Given the description of an element on the screen output the (x, y) to click on. 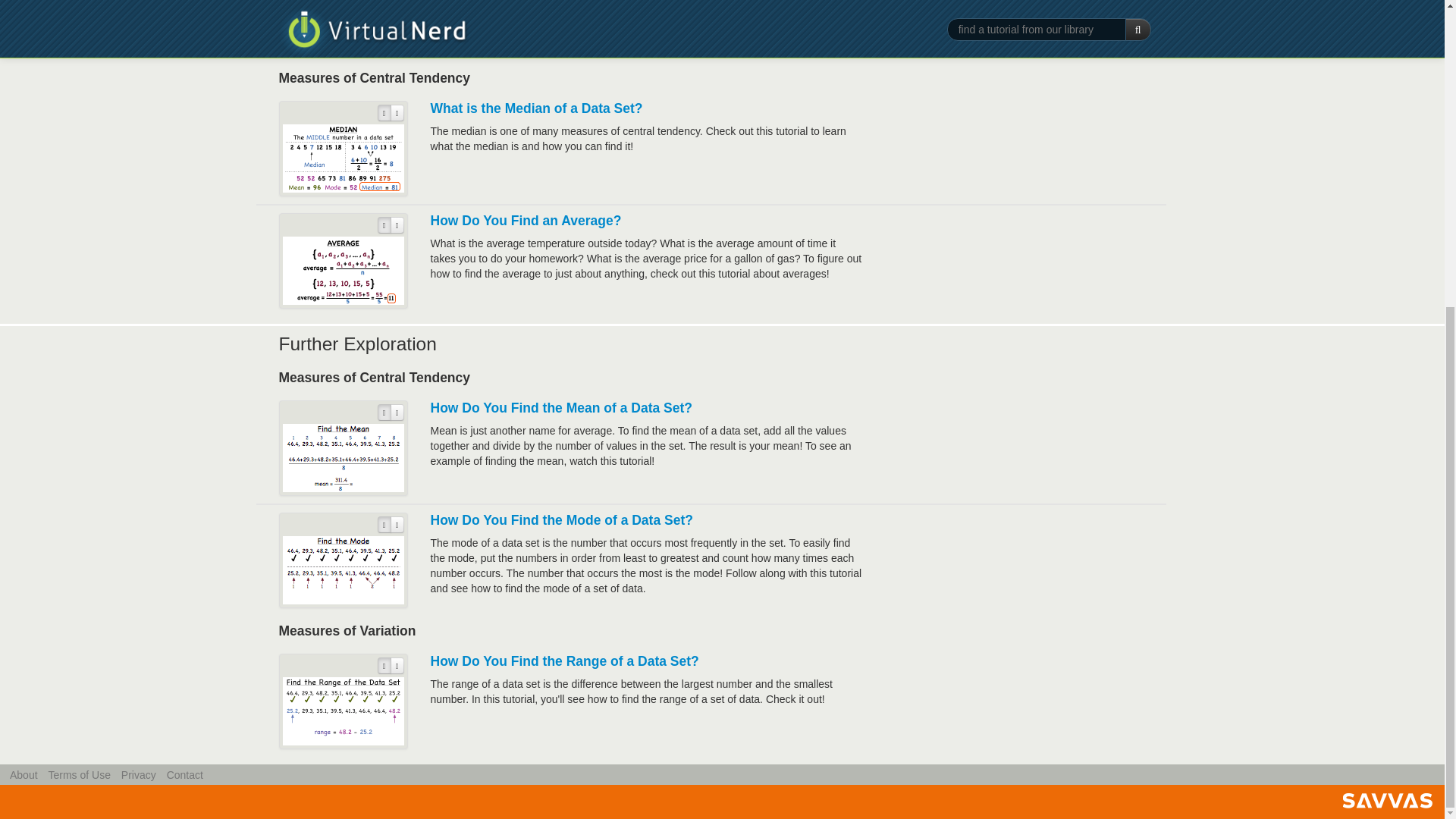
What is the Median of a Data Set? (536, 108)
